Given the description of an element on the screen output the (x, y) to click on. 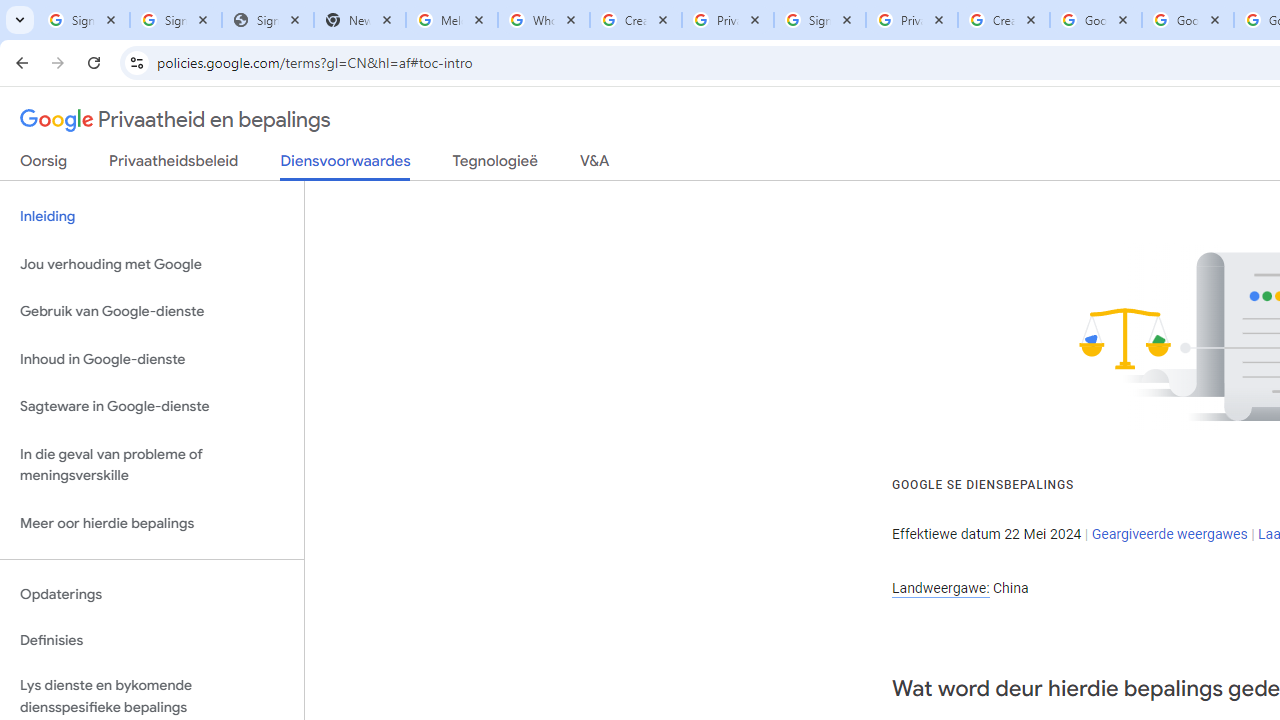
Chinese Envelope... (68, 161)
Update Labels (1064, 196)
Select Recipients (423, 161)
Labels... (232, 161)
Rules (1037, 126)
Envelopes... (155, 161)
